Given the description of an element on the screen output the (x, y) to click on. 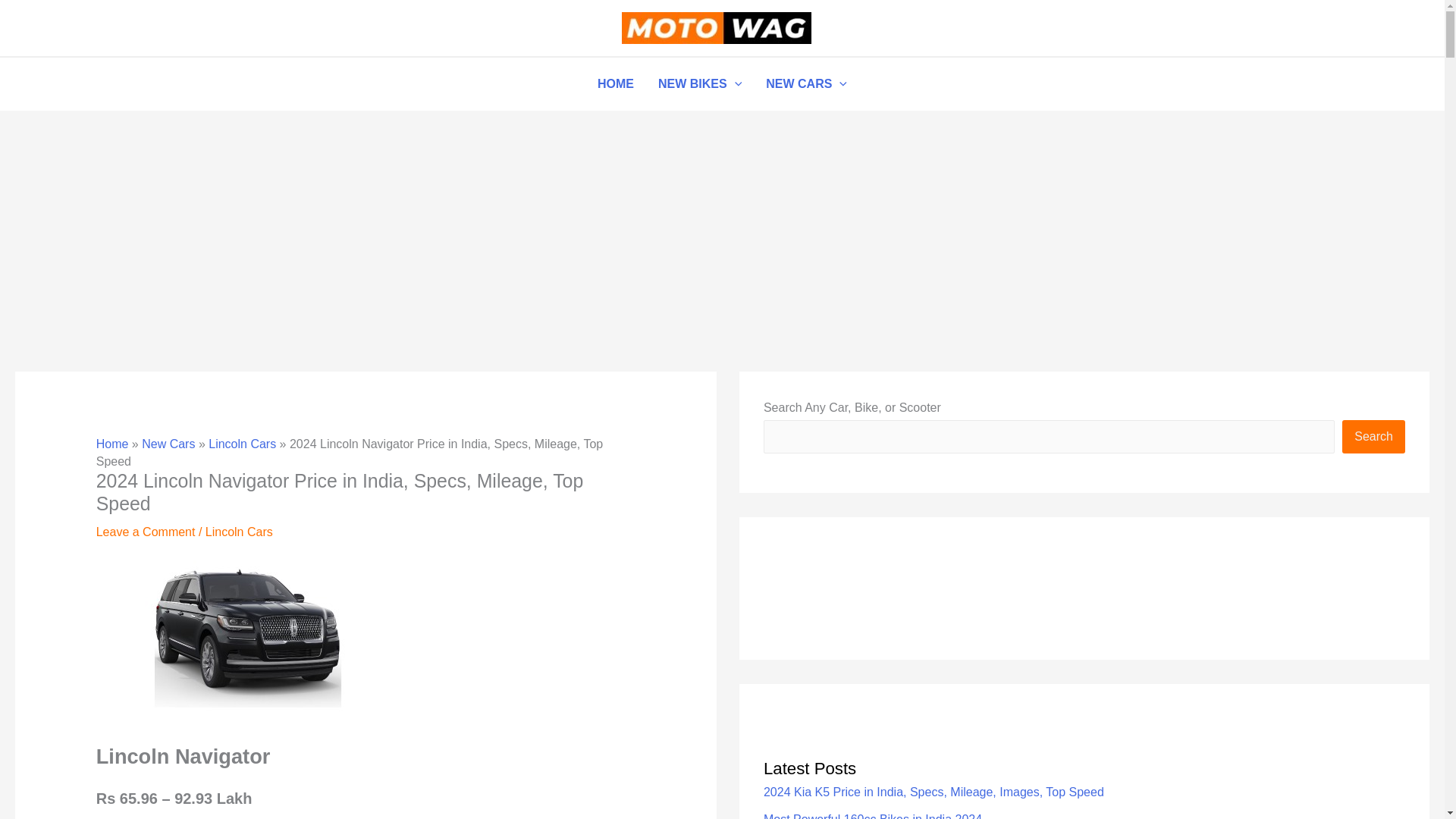
HOME (615, 83)
NEW CARS (806, 83)
NEW BIKES (700, 83)
